Given the description of an element on the screen output the (x, y) to click on. 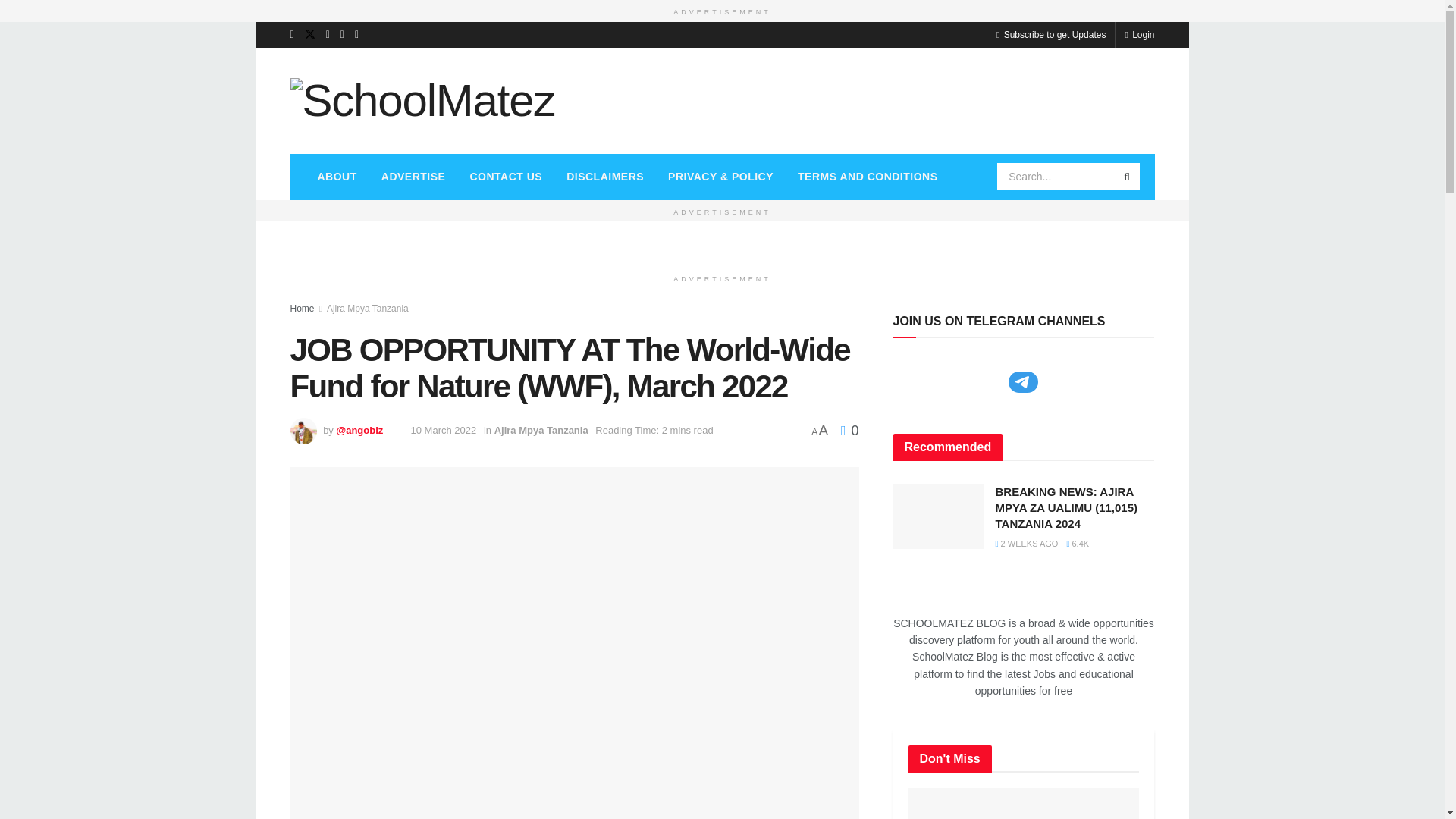
CONTACT US (505, 176)
Home (301, 308)
Subscribe to get Updates (1050, 33)
TERMS AND CONDITIONS (867, 176)
10 March 2022 (443, 430)
Ajira Mpya Tanzania (541, 430)
Ajira Mpya Tanzania (367, 308)
ADVERTISE (413, 176)
DISCLAIMERS (605, 176)
ABOUT (336, 176)
Login (1139, 33)
